Given the description of an element on the screen output the (x, y) to click on. 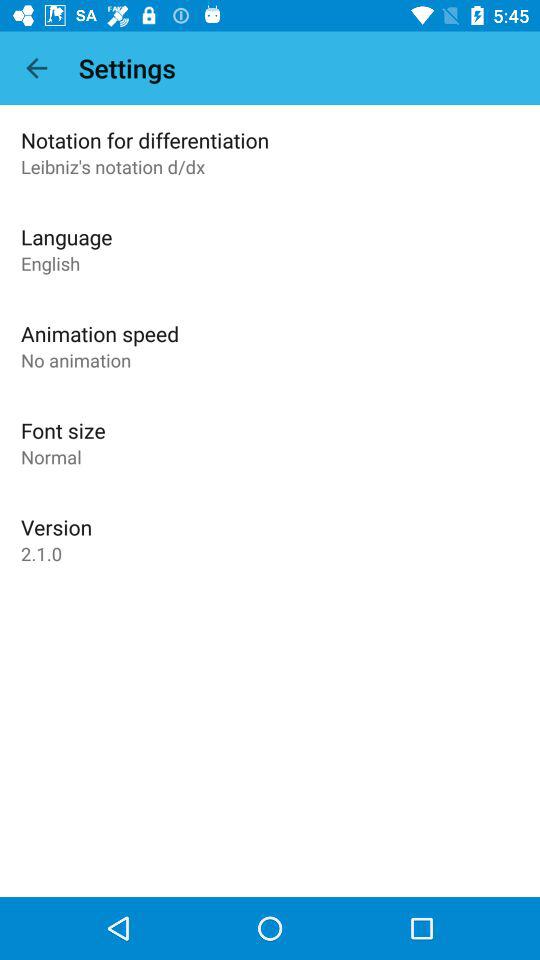
turn off notation for differentiation (145, 139)
